Given the description of an element on the screen output the (x, y) to click on. 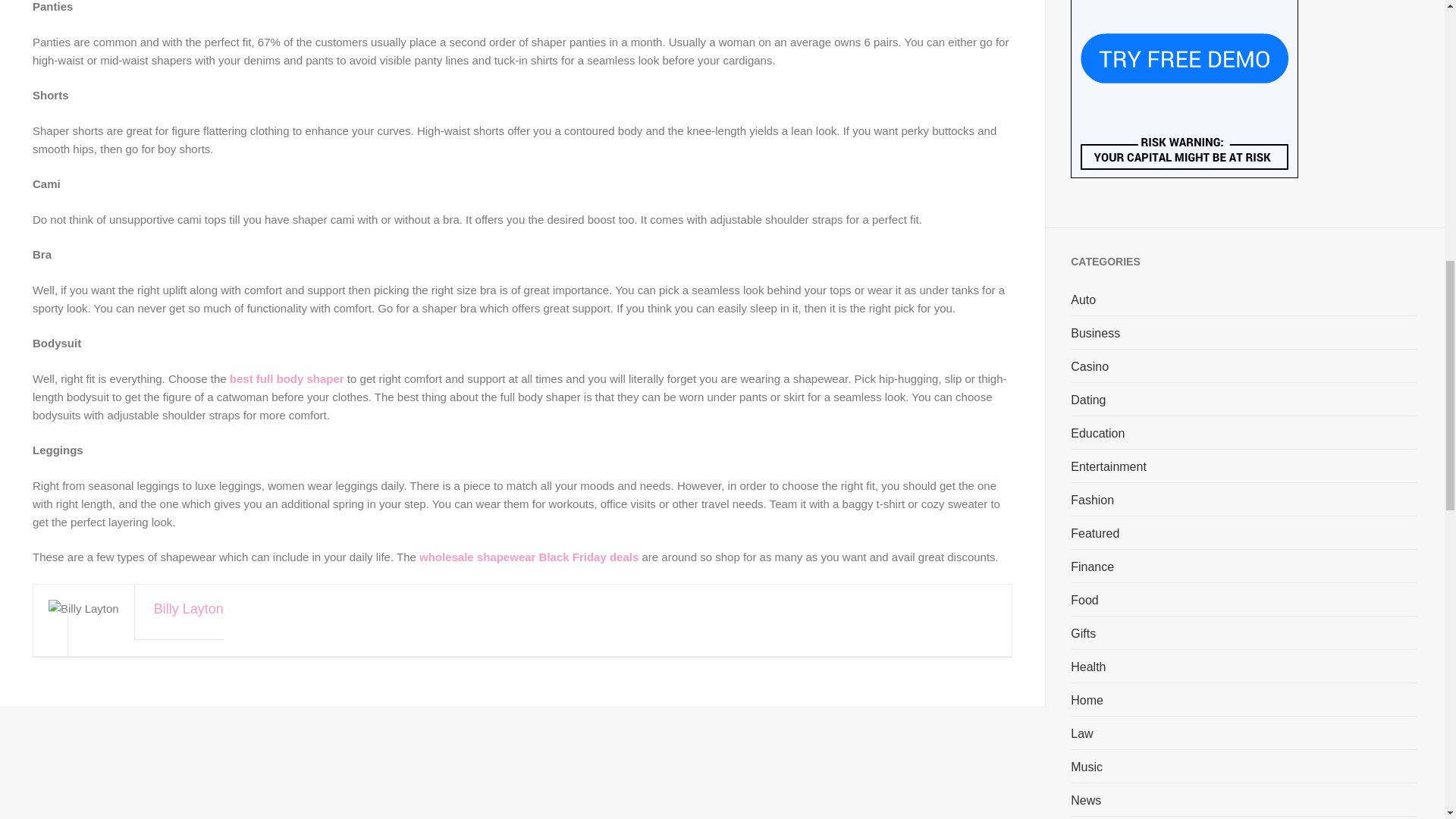
Dating (1087, 399)
Auto (1083, 299)
Entertainment (1108, 466)
Food (1083, 599)
Featured (1094, 532)
best full body shaper (286, 377)
Billy Layton (529, 625)
Gifts (1083, 632)
Health (1087, 666)
Education (1097, 433)
Finance (1091, 565)
Casino (1089, 365)
Fashion (1091, 499)
Business (1094, 332)
wholesale shapewear Black Friday deals (529, 556)
